Given the description of an element on the screen output the (x, y) to click on. 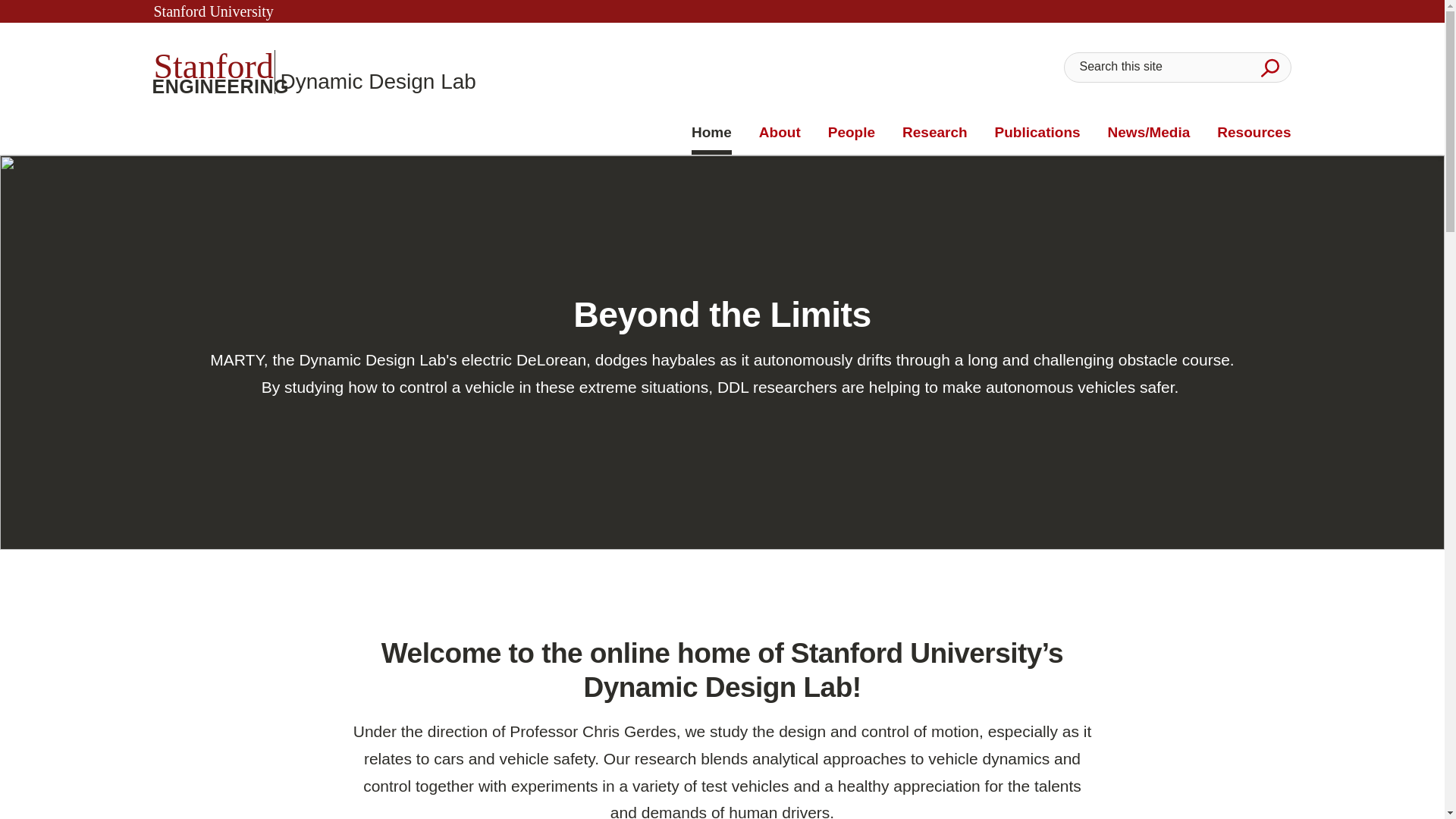
Resources (1253, 132)
Publications (314, 71)
Submit Search (1037, 132)
About (1269, 67)
A listing of people types (779, 132)
Research (851, 132)
News (935, 132)
Home (1149, 132)
